Given the description of an element on the screen output the (x, y) to click on. 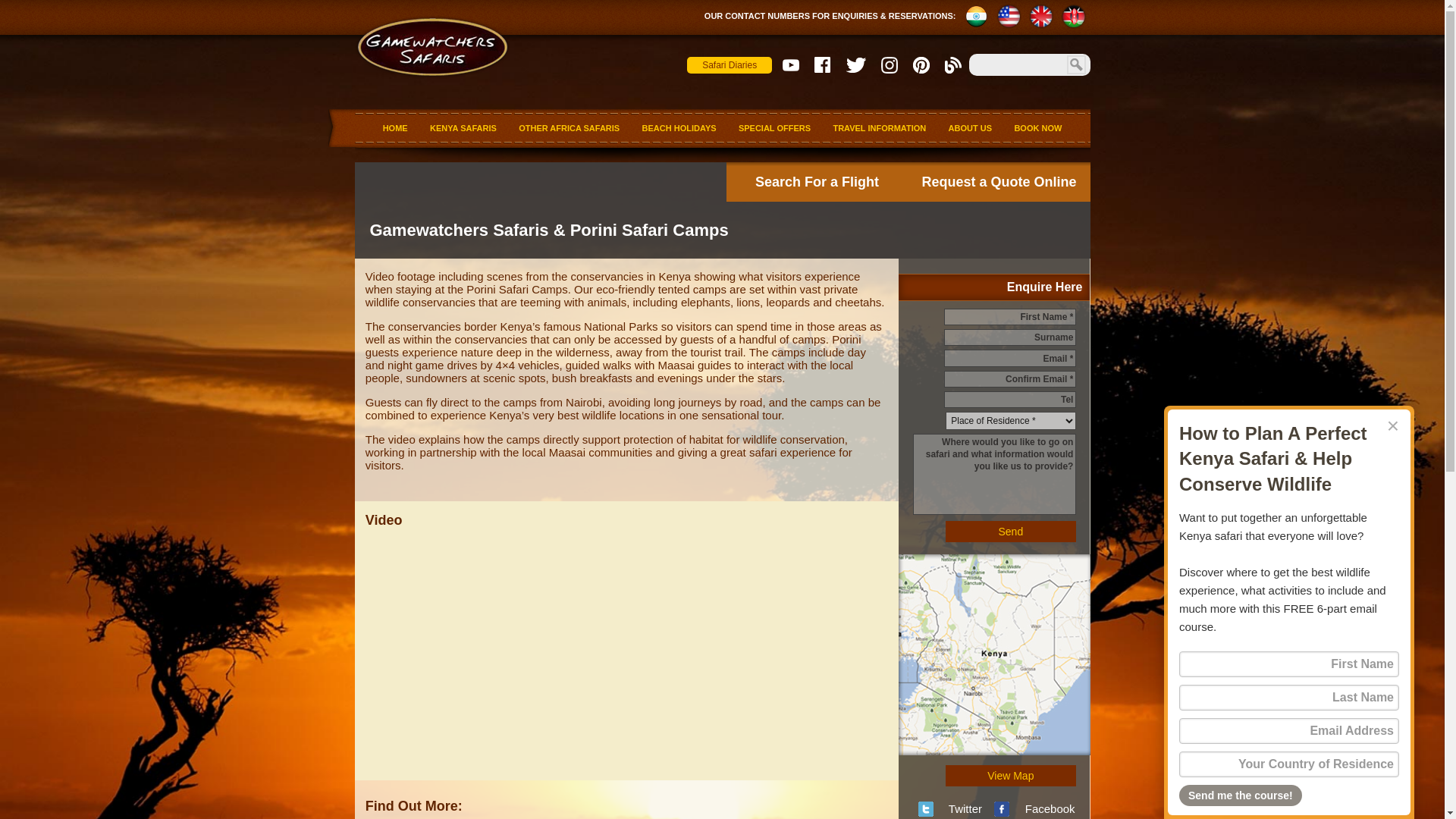
Search (1074, 64)
UK telephone number (1039, 16)
OTHER AFRICA SAFARIS (568, 127)
Search (1074, 64)
India telephone number (975, 16)
UK telephone number (1039, 16)
Pinterest (921, 64)
Kenya telephone number (1073, 16)
HOME (394, 127)
Search (1074, 64)
Facebook (822, 64)
BEACH HOLIDAYS (678, 127)
Customer reviews powered by Trustpilot (827, 85)
Youtube (791, 64)
US telephone number (1008, 16)
